Given the description of an element on the screen output the (x, y) to click on. 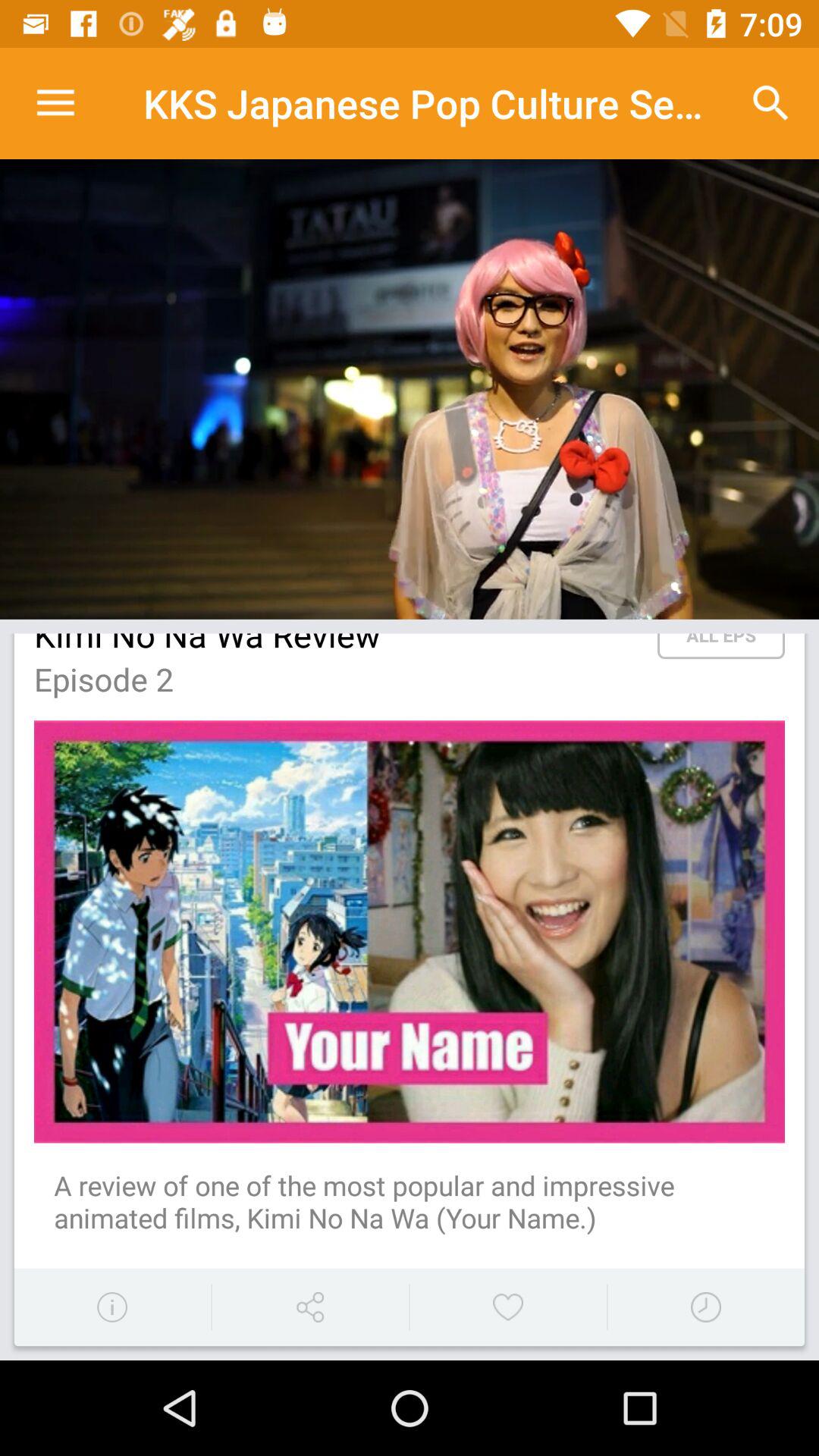
click the share button from the bottom (309, 1306)
